Given the description of an element on the screen output the (x, y) to click on. 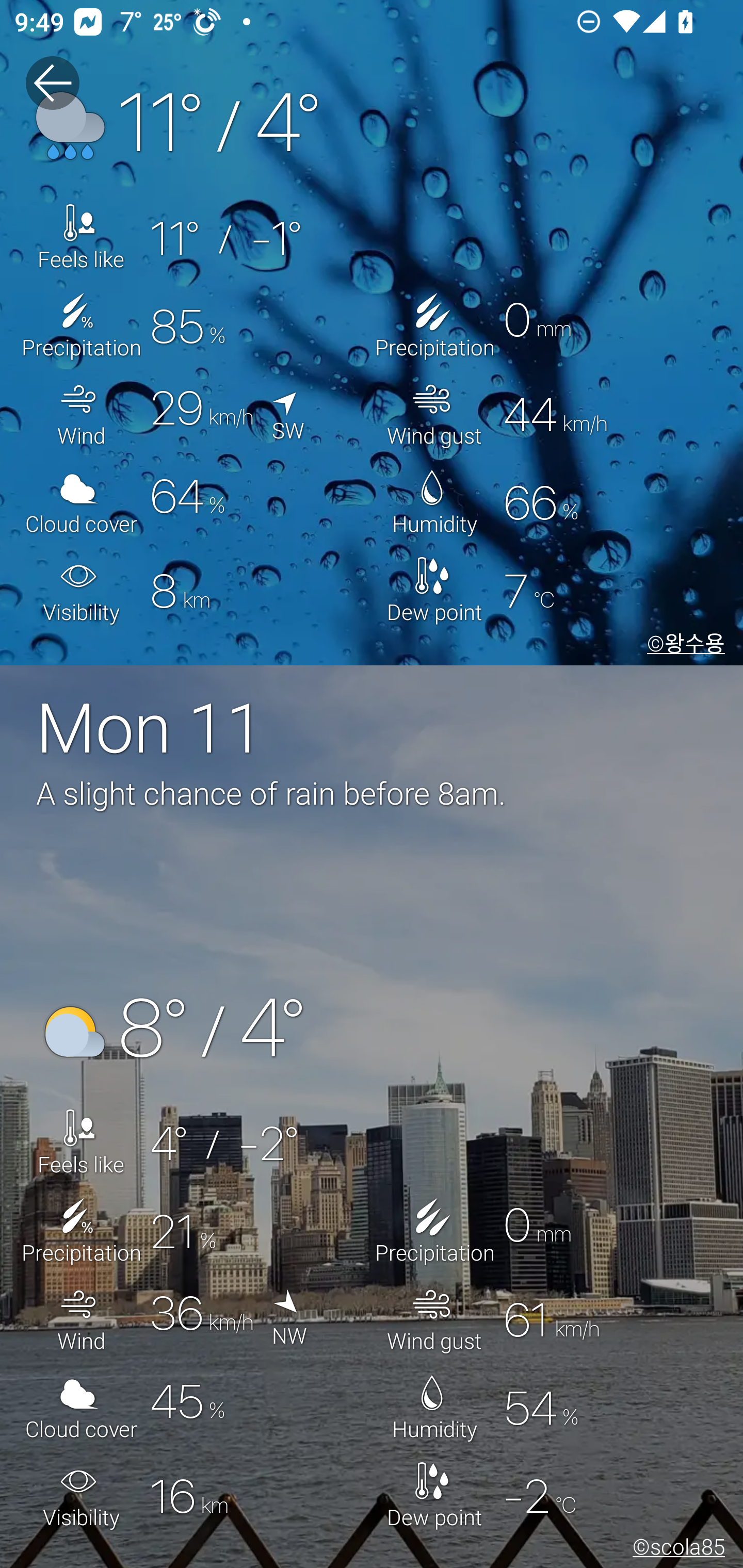
©왕수용 (682, 644)
©scola85 (675, 1549)
